Given the description of an element on the screen output the (x, y) to click on. 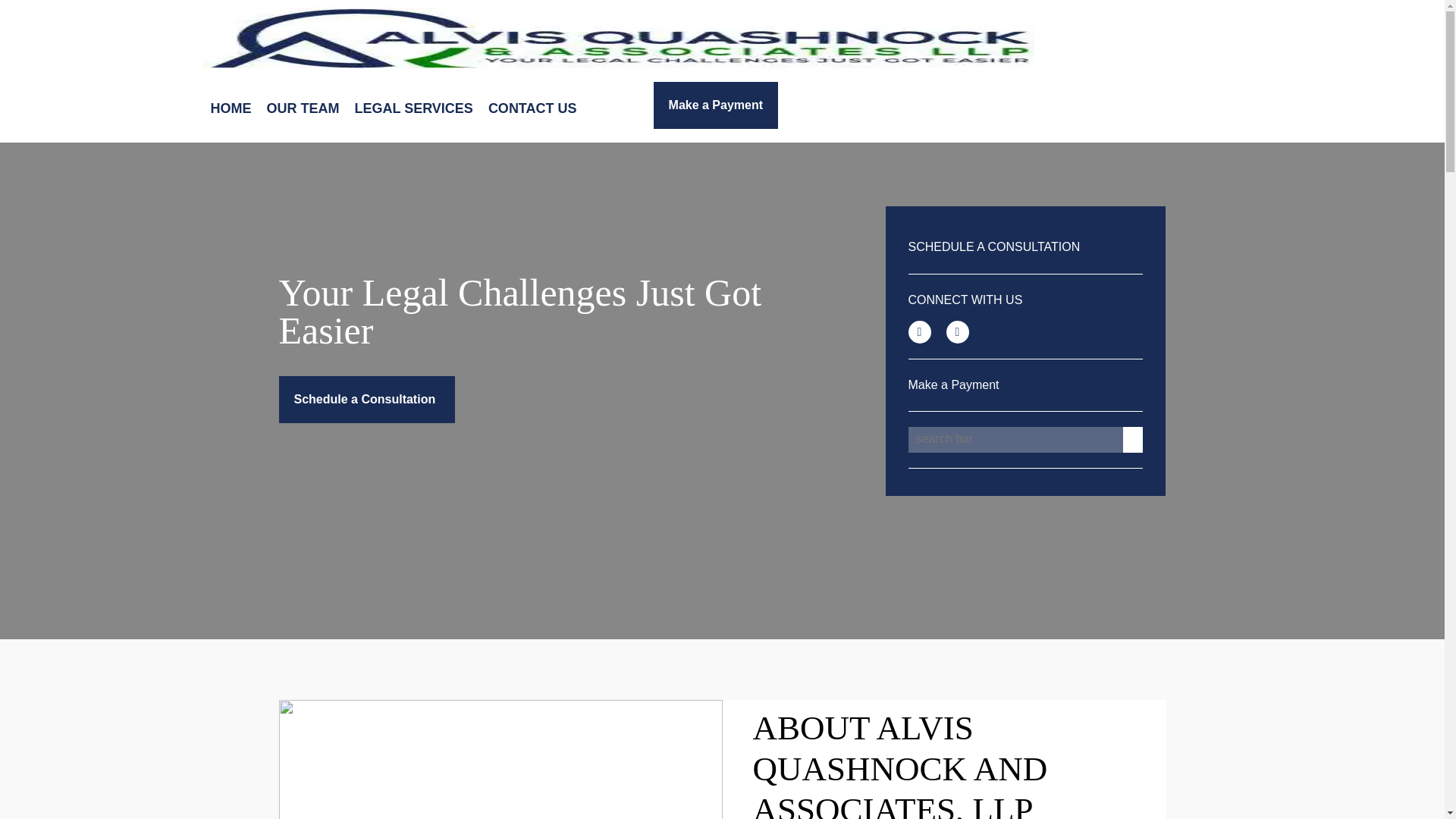
HOME (231, 108)
Schedule a Consultation (367, 399)
OUR TEAM (303, 108)
SCHEDULE A CONSULTATION (994, 246)
LEGAL SERVICES (413, 108)
CONTACT US (532, 108)
CONNECT WITH US (965, 299)
Make a Payment (953, 384)
Make a Payment (715, 104)
